Given the description of an element on the screen output the (x, y) to click on. 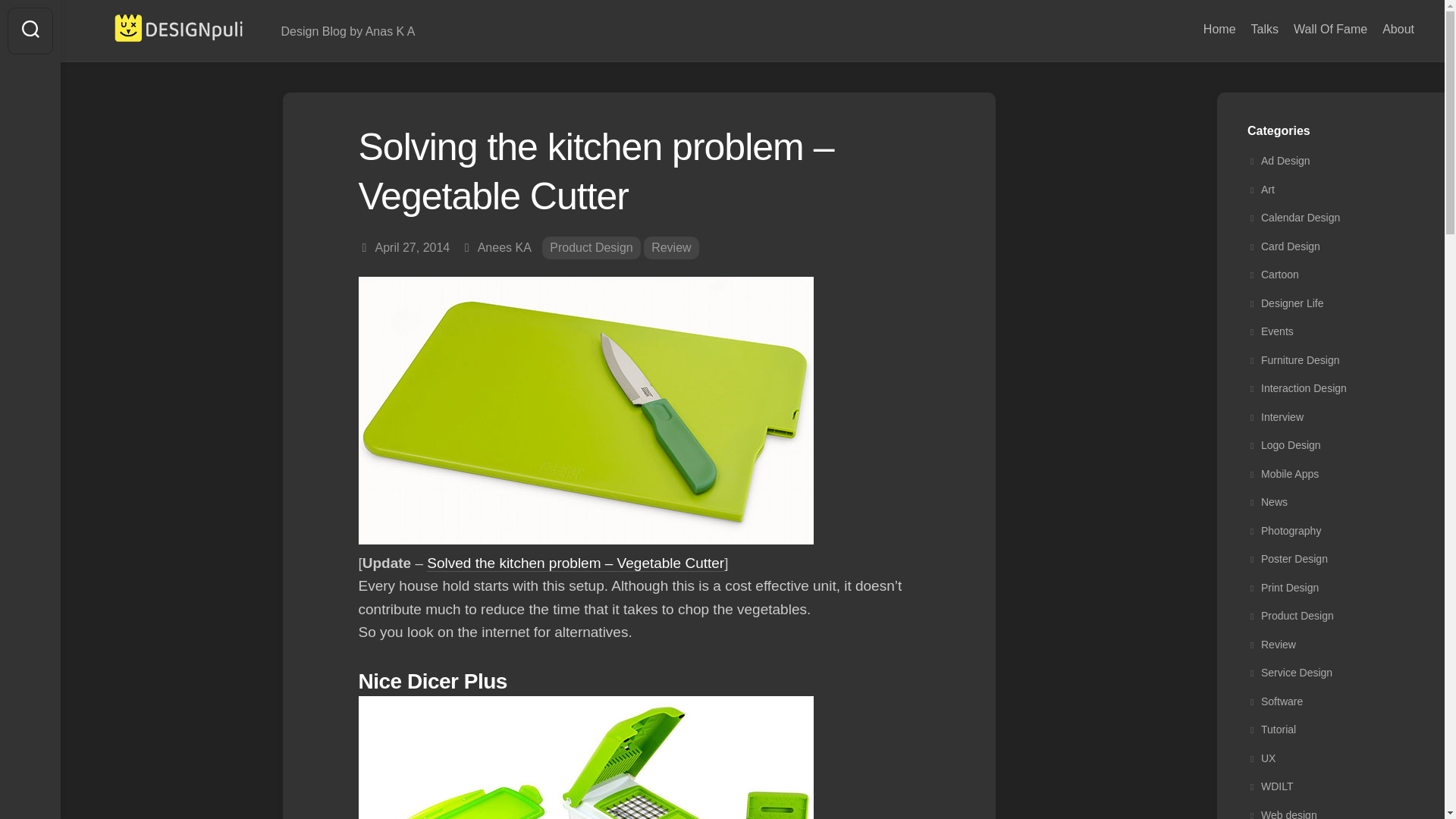
Posts by Anees KA (504, 246)
Review (670, 248)
Home (1220, 29)
Product Design (590, 248)
Wall Of Fame (1330, 29)
Talks (1264, 29)
About (1397, 29)
Anees KA (504, 246)
